Given the description of an element on the screen output the (x, y) to click on. 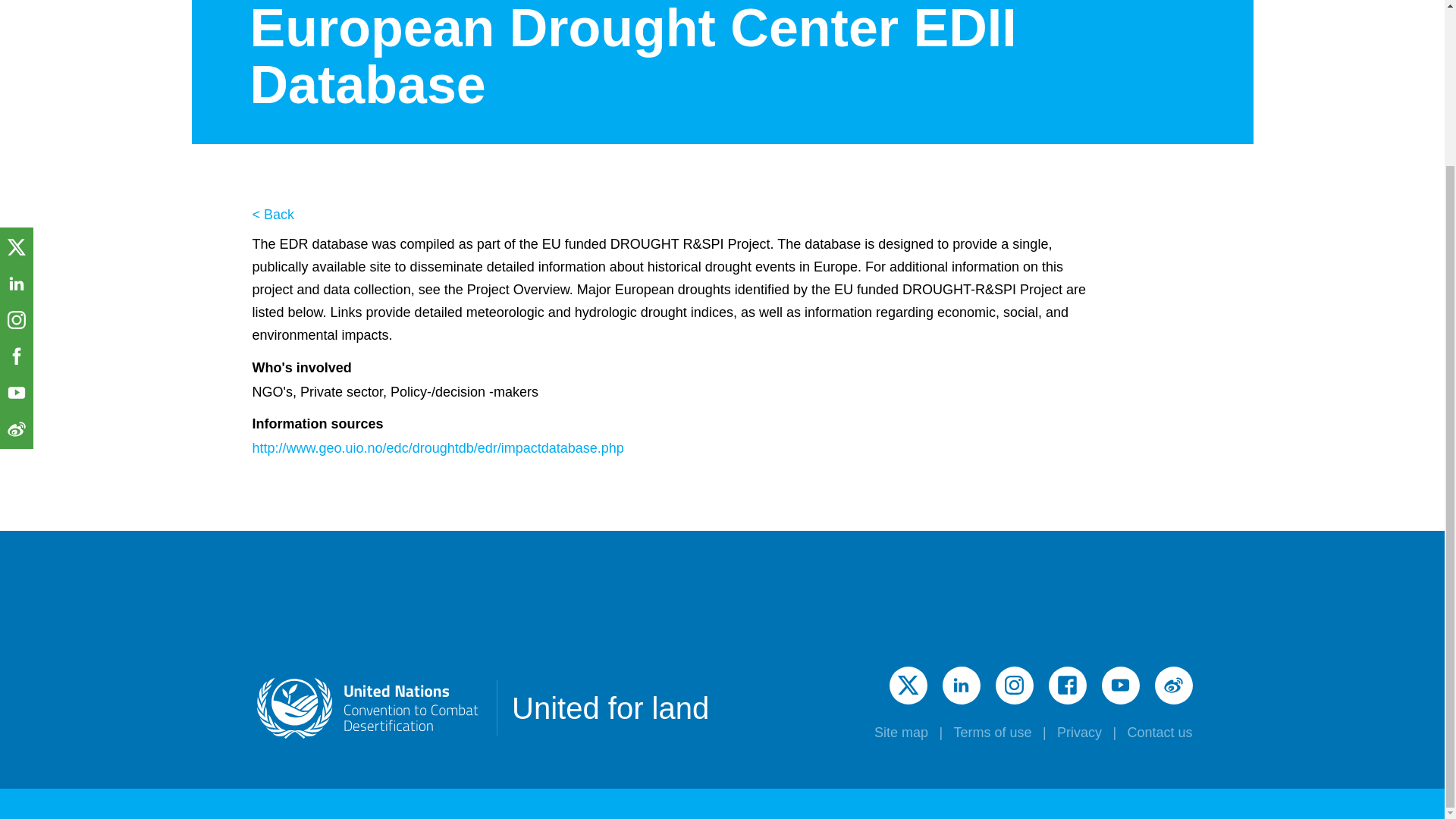
UNCCD (367, 707)
